Given the description of an element on the screen output the (x, y) to click on. 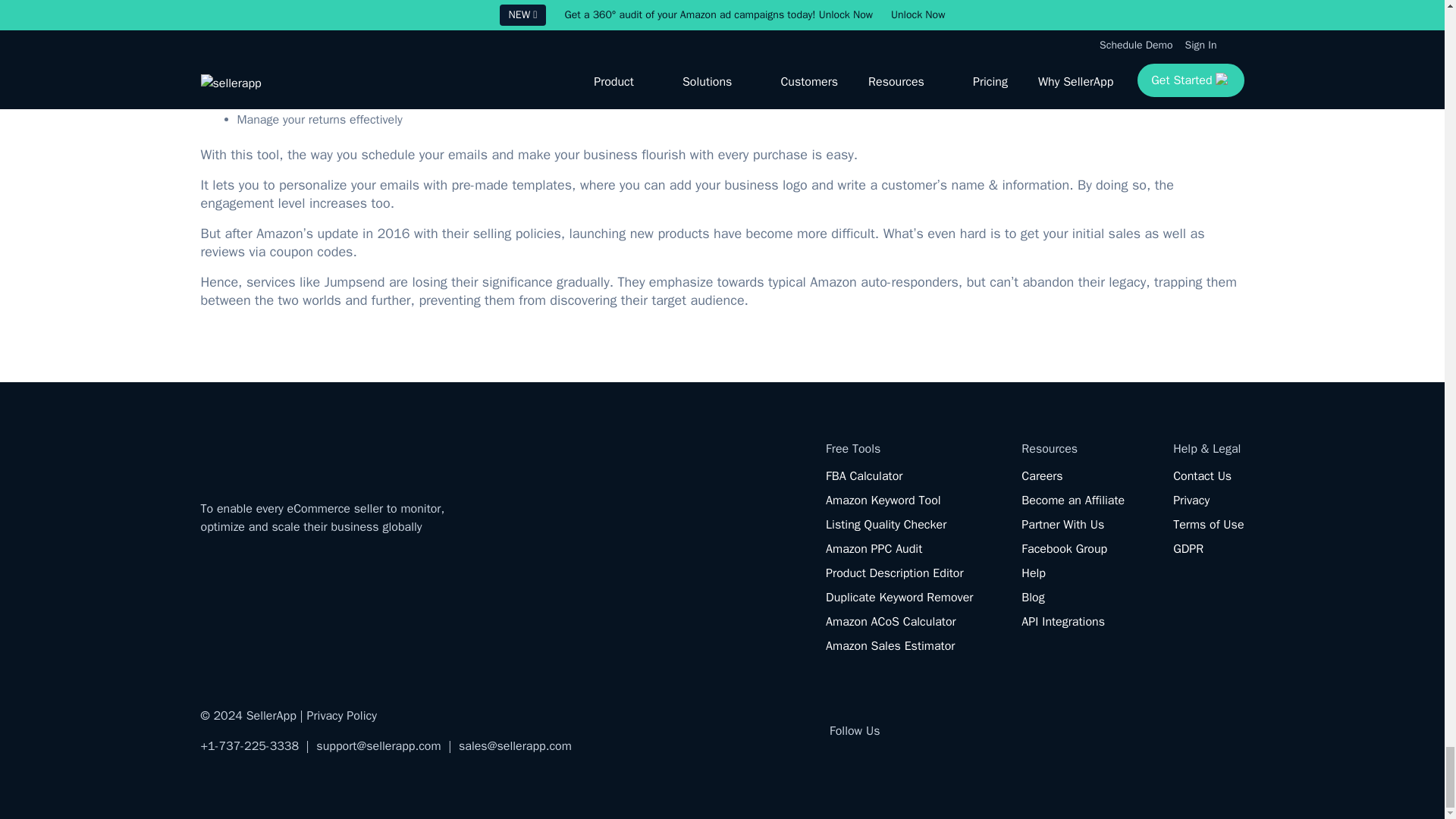
Product Description Editor (893, 572)
Amazon Keyword Tool (882, 500)
FBA Calculator (863, 476)
Listing Quality Checker (885, 524)
Amazon PPC Audit (873, 548)
